Given the description of an element on the screen output the (x, y) to click on. 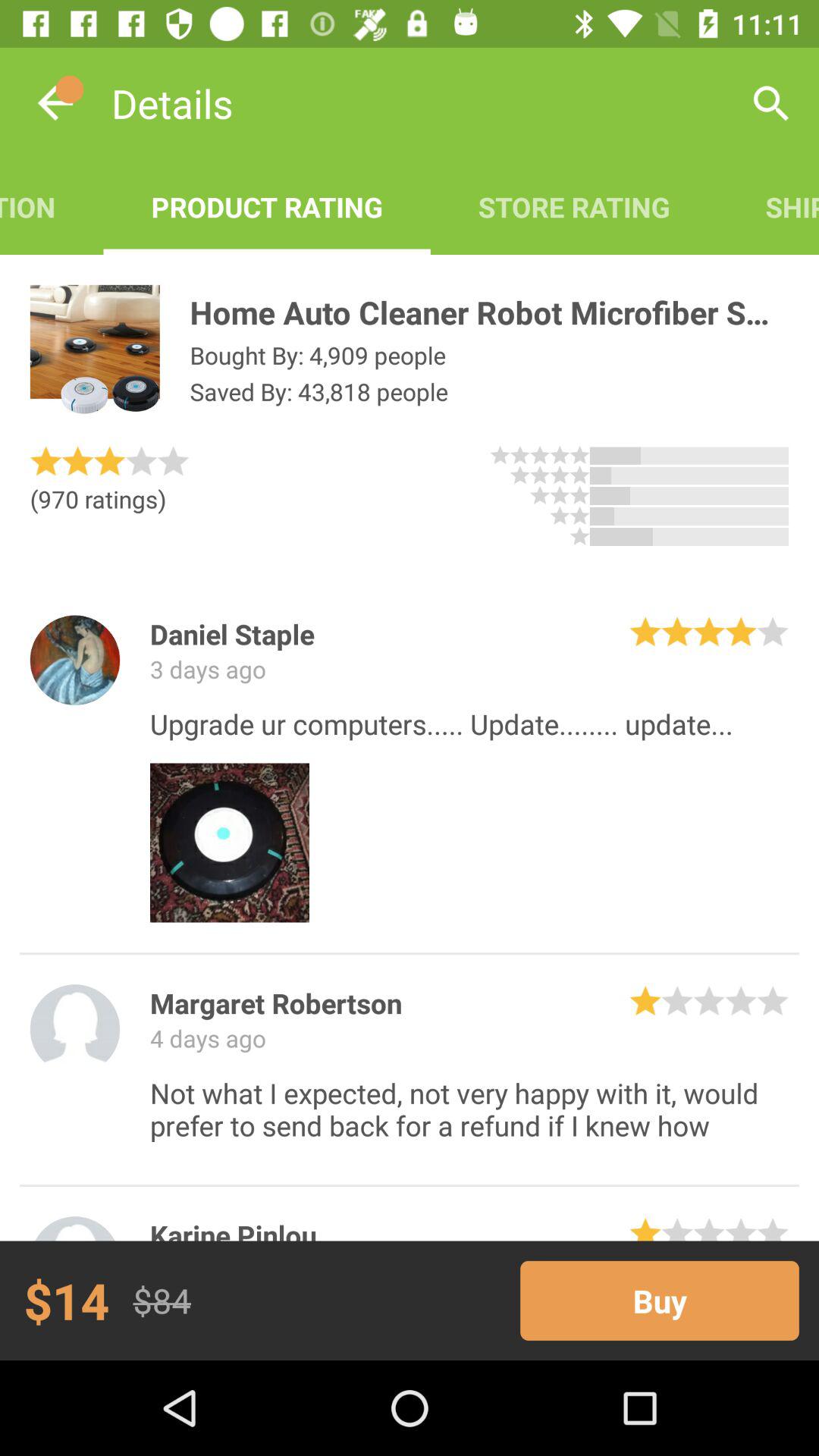
click icon to the right of the store rating icon (768, 206)
